Given the description of an element on the screen output the (x, y) to click on. 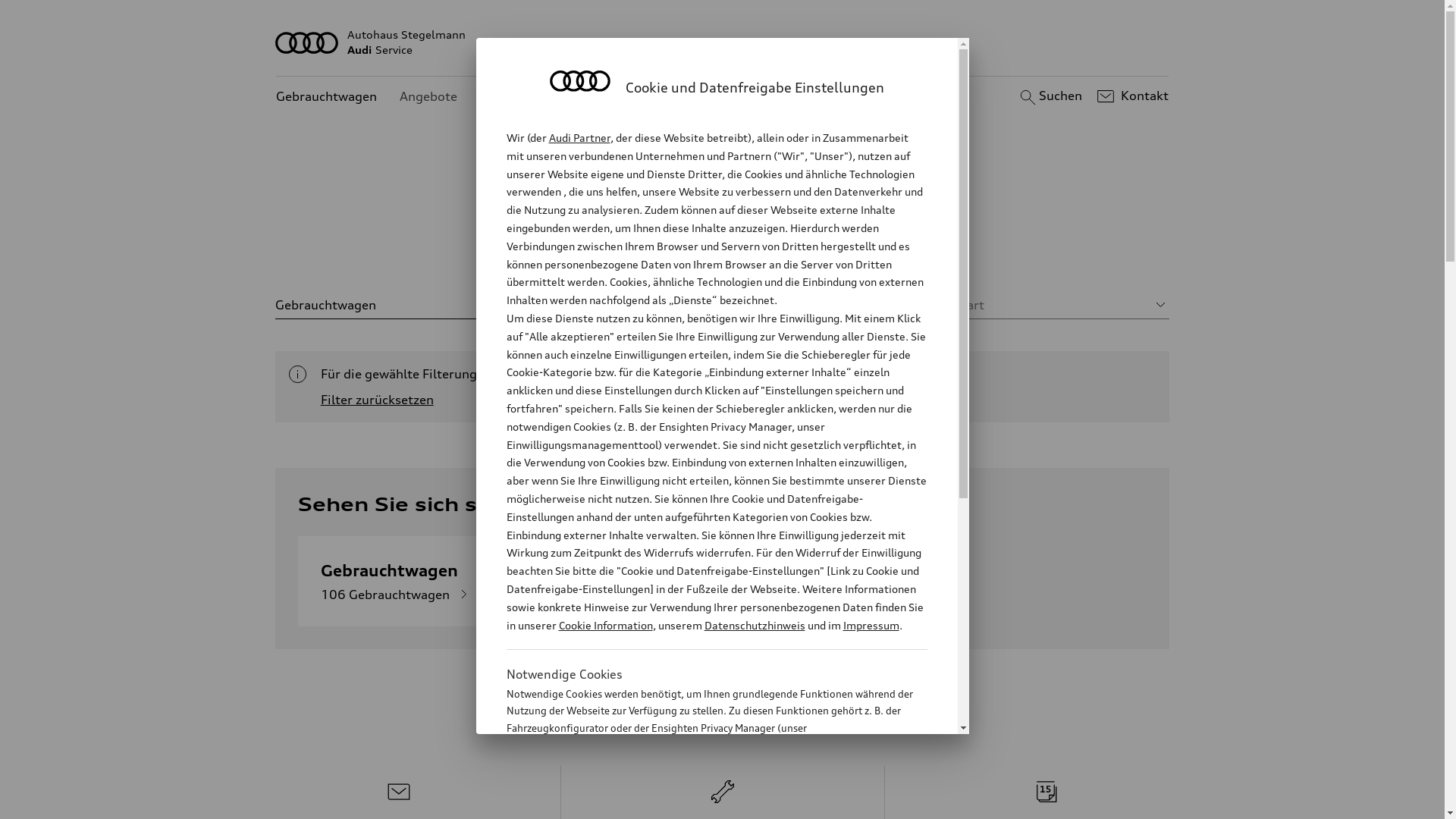
106 Gebrauchtwagen Element type: text (396, 594)
Angebote Element type: text (428, 96)
Cookie Information Element type: text (700, 802)
Cookie Information Element type: text (605, 624)
Audi Partner Element type: text (579, 137)
Datenschutzhinweis Element type: text (753, 624)
Fahrzeuge Element type: text (703, 250)
Suchen Element type: text (1049, 96)
Alle Angebote Element type: text (604, 250)
Kontakt Element type: text (1130, 96)
Impressum Element type: text (871, 624)
Gebrauchtwagen Element type: text (326, 96)
Autohaus Stegelmann
AudiService Element type: text (722, 42)
Kundenservice Element type: text (523, 96)
Service Element type: text (860, 250)
